Given the description of an element on the screen output the (x, y) to click on. 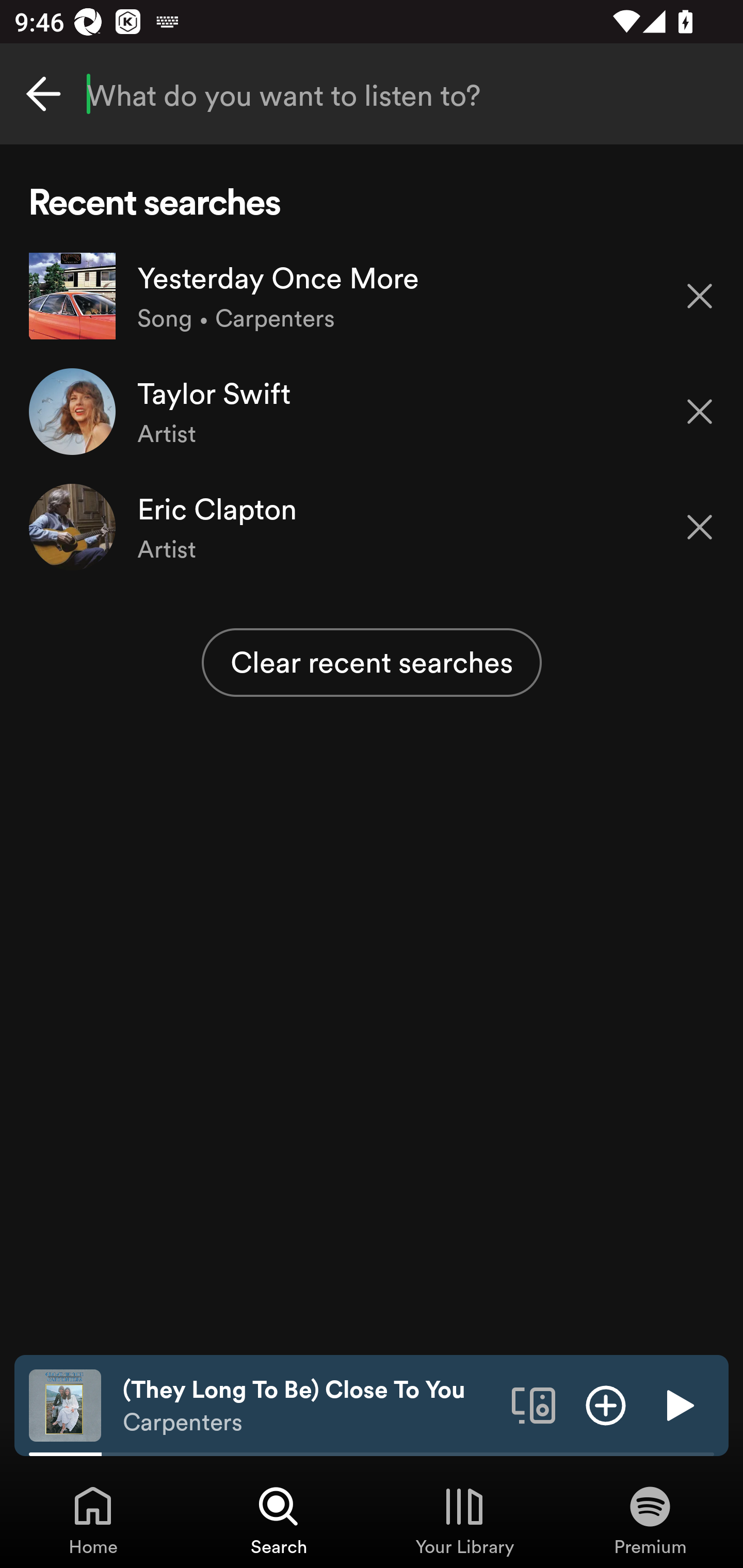
What do you want to listen to? (371, 93)
Cancel (43, 93)
Yesterday Once More Song • Carpenters Remove (371, 296)
Remove (699, 295)
Taylor Swift Artist Remove (371, 411)
Remove (699, 411)
Eric Clapton Artist Remove (371, 526)
Remove (699, 527)
Clear recent searches (371, 662)
(They Long To Be) Close To You Carpenters (309, 1405)
The cover art of the currently playing track (64, 1404)
Connect to a device. Opens the devices menu (533, 1404)
Add item (605, 1404)
Play (677, 1404)
Home, Tab 1 of 4 Home Home (92, 1519)
Search, Tab 2 of 4 Search Search (278, 1519)
Your Library, Tab 3 of 4 Your Library Your Library (464, 1519)
Premium, Tab 4 of 4 Premium Premium (650, 1519)
